Given the description of an element on the screen output the (x, y) to click on. 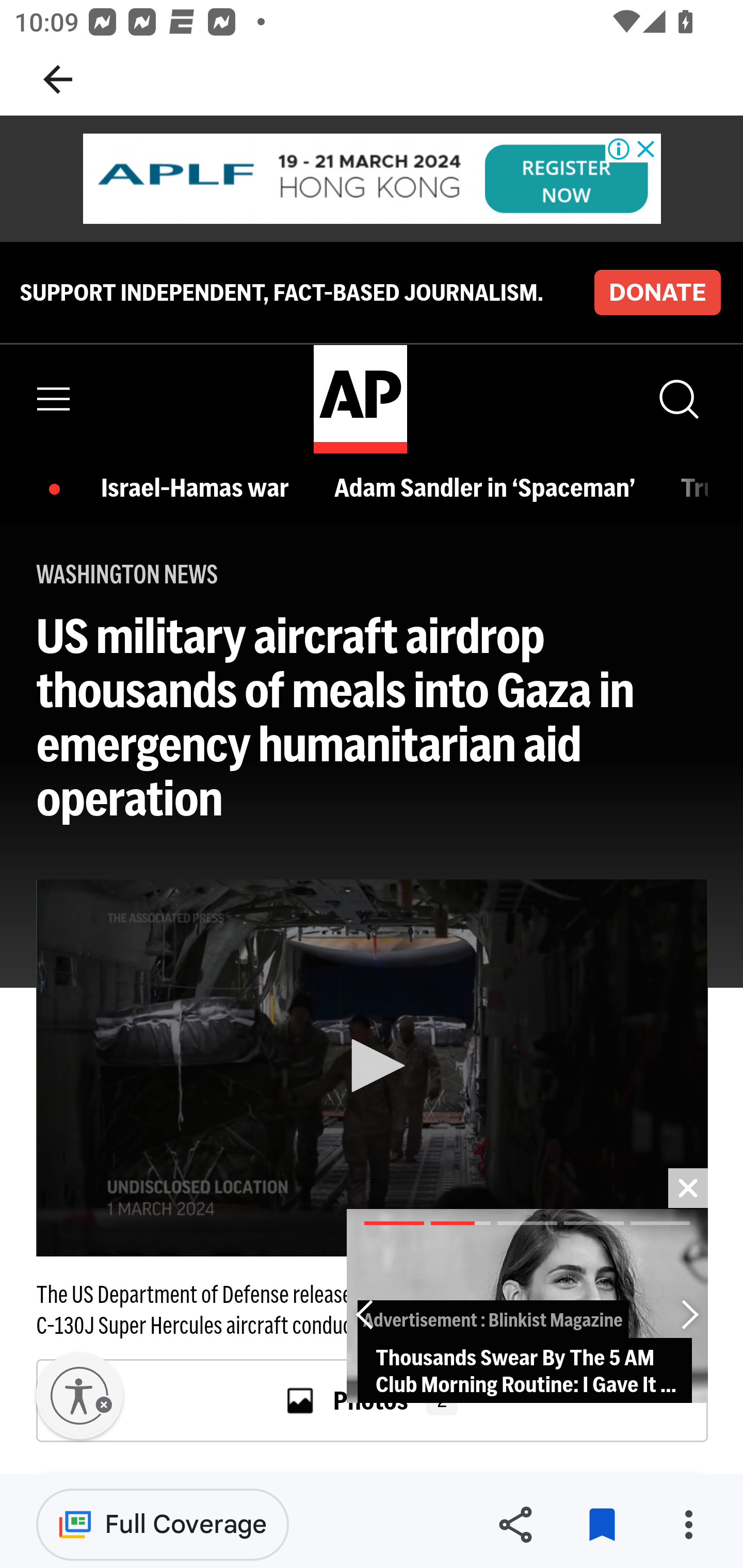
Navigate up (57, 79)
DONATE (657, 291)
home page AP Logo (359, 398)
Menu (54, 398)
Show Search (677, 398)
Israel-Hamas war (200, 487)
Adam Sandler in ‘Spaceman’ (489, 487)
Play (372, 1066)
Enable accessibility (79, 1395)
Share (514, 1524)
Remove from saved stories (601, 1524)
More options (688, 1524)
Full Coverage (162, 1524)
